Given the description of an element on the screen output the (x, y) to click on. 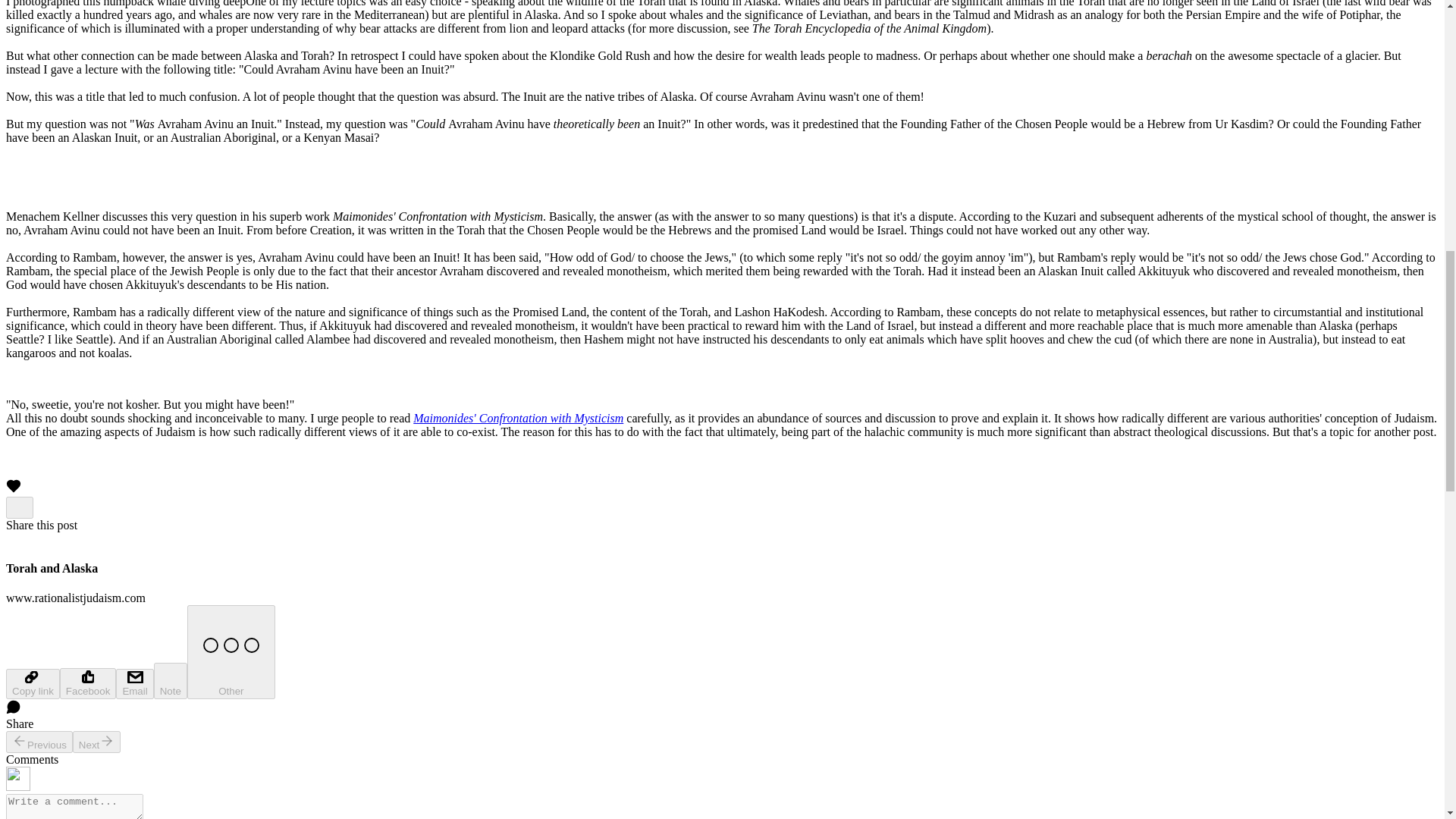
Maimonides' Confrontation with Mysticism (518, 418)
Previous (38, 741)
Facebook (87, 683)
Email (134, 684)
Note (170, 680)
Copy link (32, 684)
Next (96, 741)
Other (231, 652)
